Given the description of an element on the screen output the (x, y) to click on. 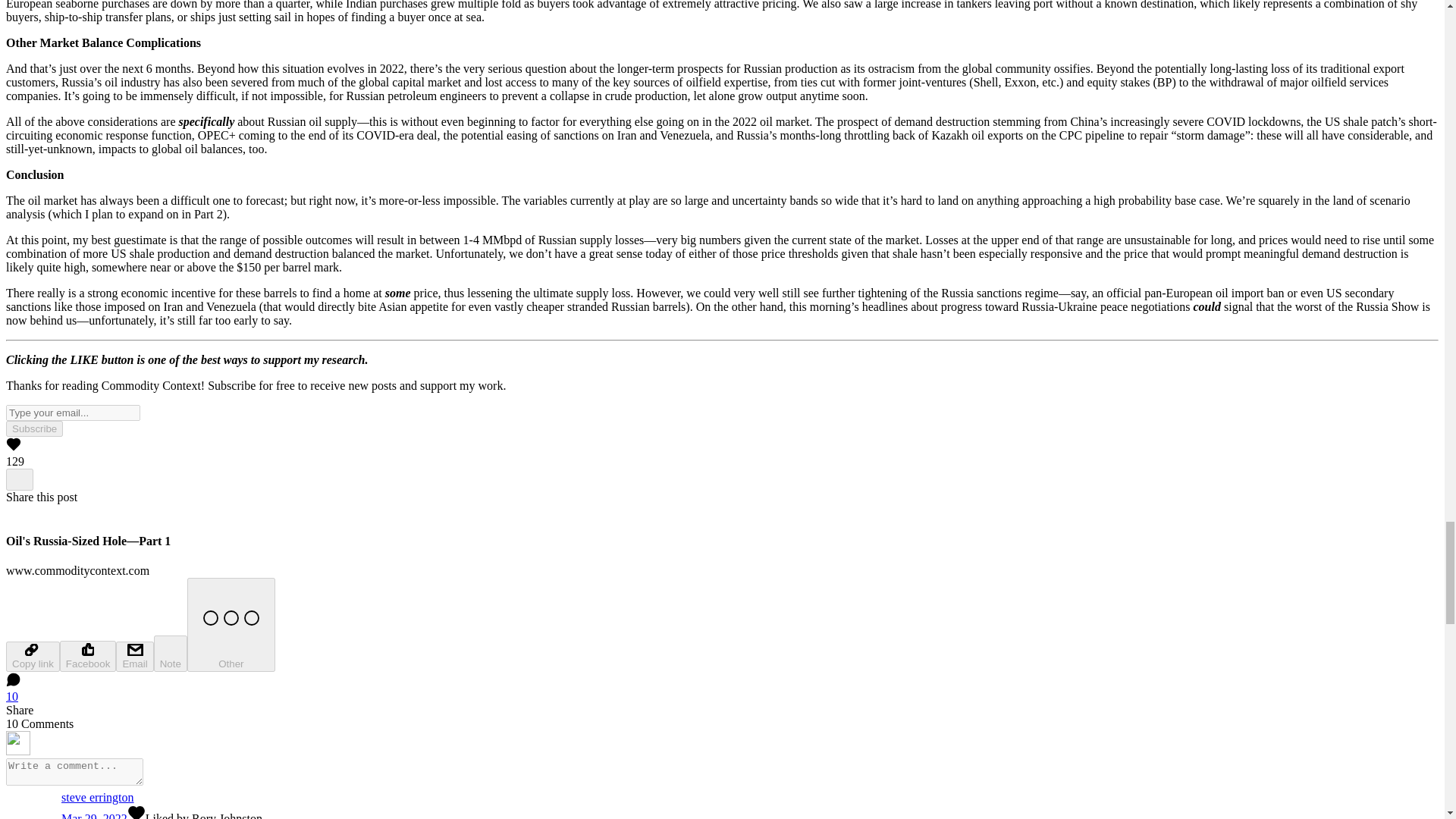
Email (134, 656)
Subscribe (33, 428)
Facebook (87, 655)
Copy link (32, 656)
